Given the description of an element on the screen output the (x, y) to click on. 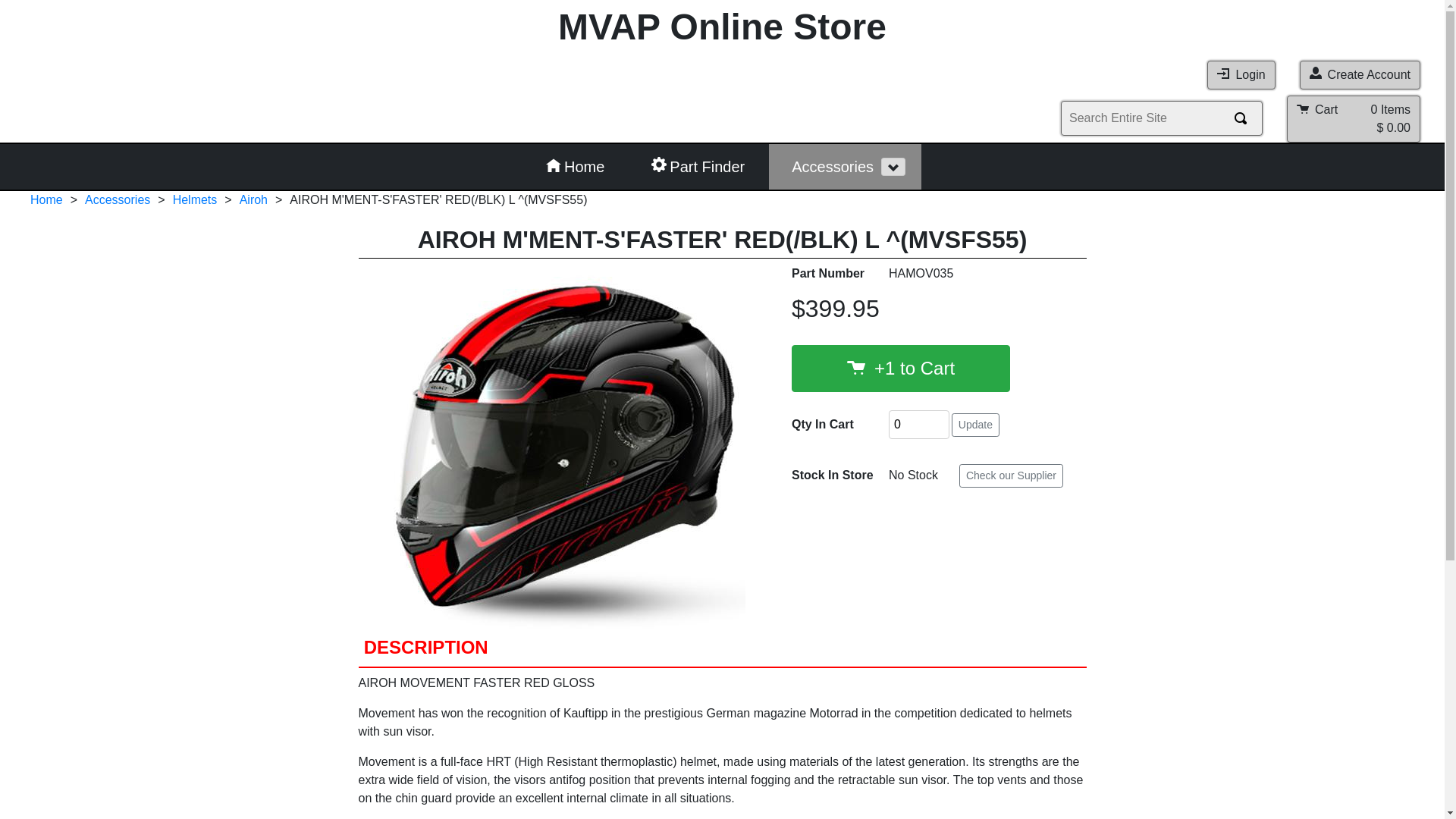
Part Finder Element type: text (697, 166)
+1 to Cart Element type: text (900, 368)
Helmets Element type: text (194, 199)
Cart
0
0.00 Element type: text (1353, 118)
Check our Supplier Element type: text (1011, 475)
Home Element type: text (575, 166)
Home Element type: text (46, 199)
Login Element type: text (1240, 74)
Accessories Element type: text (824, 166)
Airoh Element type: text (253, 199)
Create Account Element type: text (1359, 74)
Update Element type: text (975, 424)
Accessories Element type: text (117, 199)
